Given the description of an element on the screen output the (x, y) to click on. 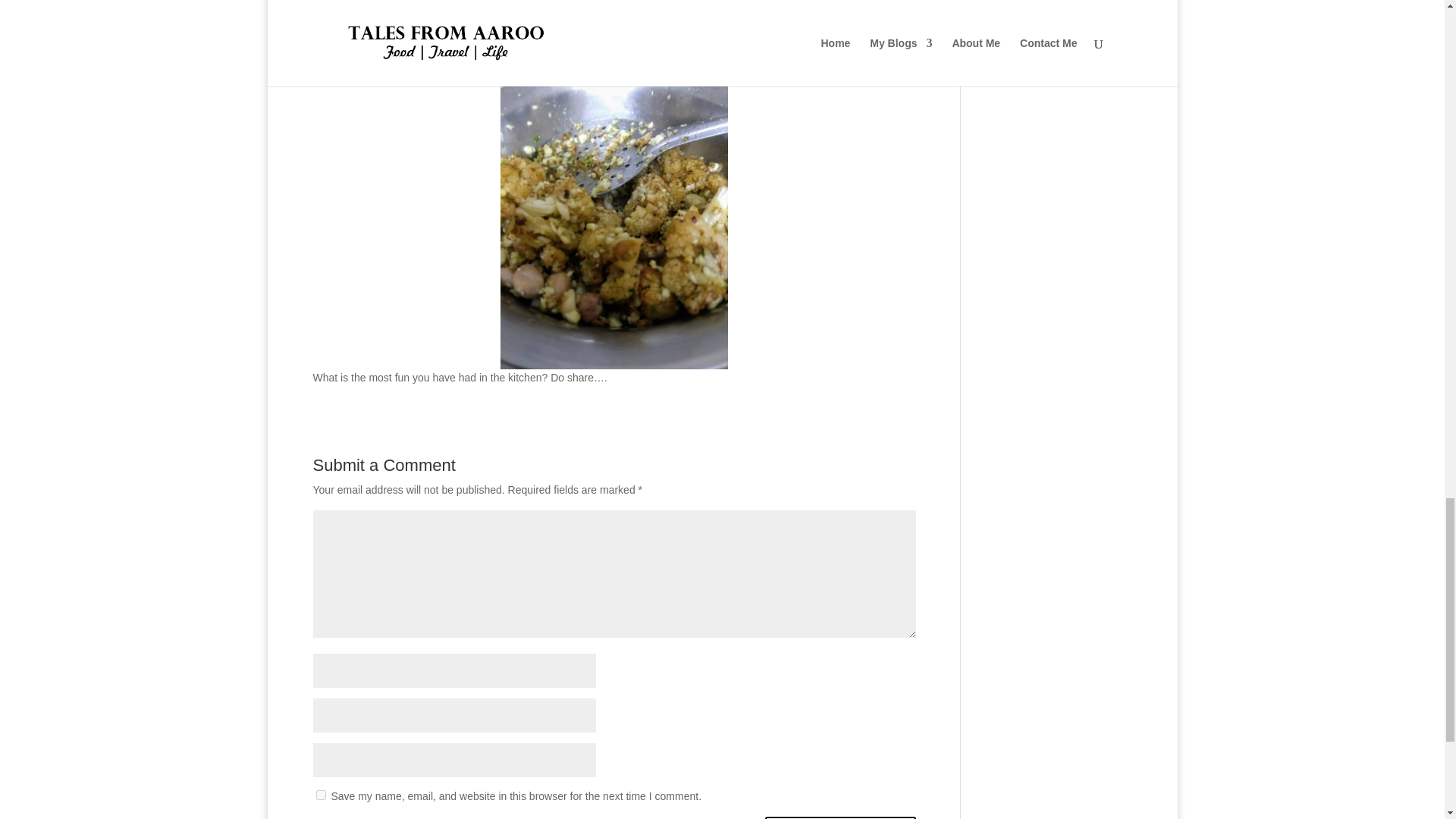
Submit Comment (840, 817)
Submit Comment (840, 817)
yes (319, 795)
